Given the description of an element on the screen output the (x, y) to click on. 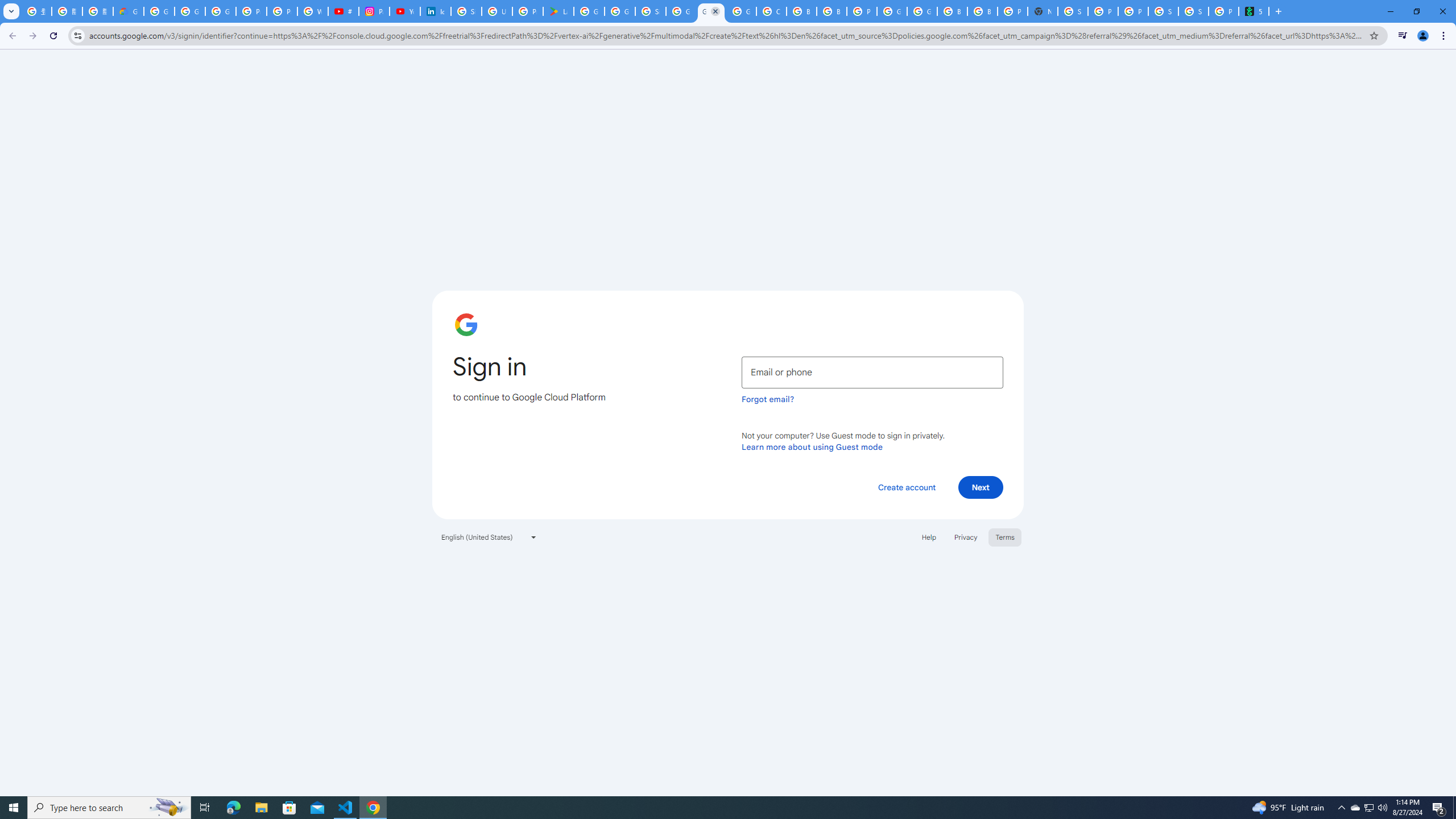
Browse Chrome as a guest - Computer - Google Chrome Help (951, 11)
English (United States) (489, 536)
Browse Chrome as a guest - Computer - Google Chrome Help (830, 11)
Sign in - Google Accounts (1072, 11)
Browse Chrome as a guest - Computer - Google Chrome Help (982, 11)
